Given the description of an element on the screen output the (x, y) to click on. 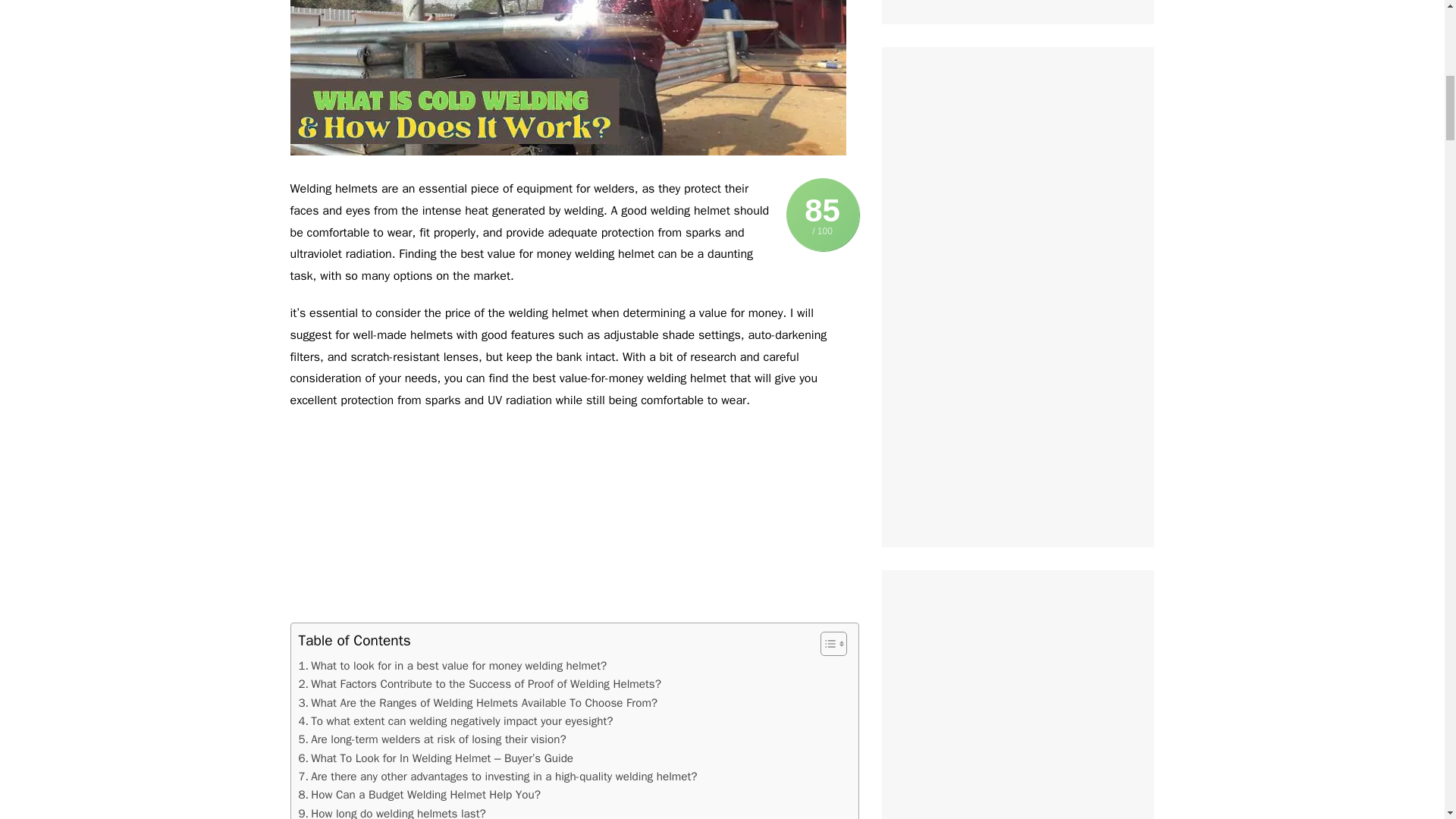
What to look for in a best value for money welding helmet? (452, 665)
How long do welding helmets last? (392, 811)
How long do welding helmets last? (392, 811)
To what extent can welding negatively impact your eyesight? (455, 720)
What is the Best Value for Money Welding Helmet? 1 (567, 77)
